Given the description of an element on the screen output the (x, y) to click on. 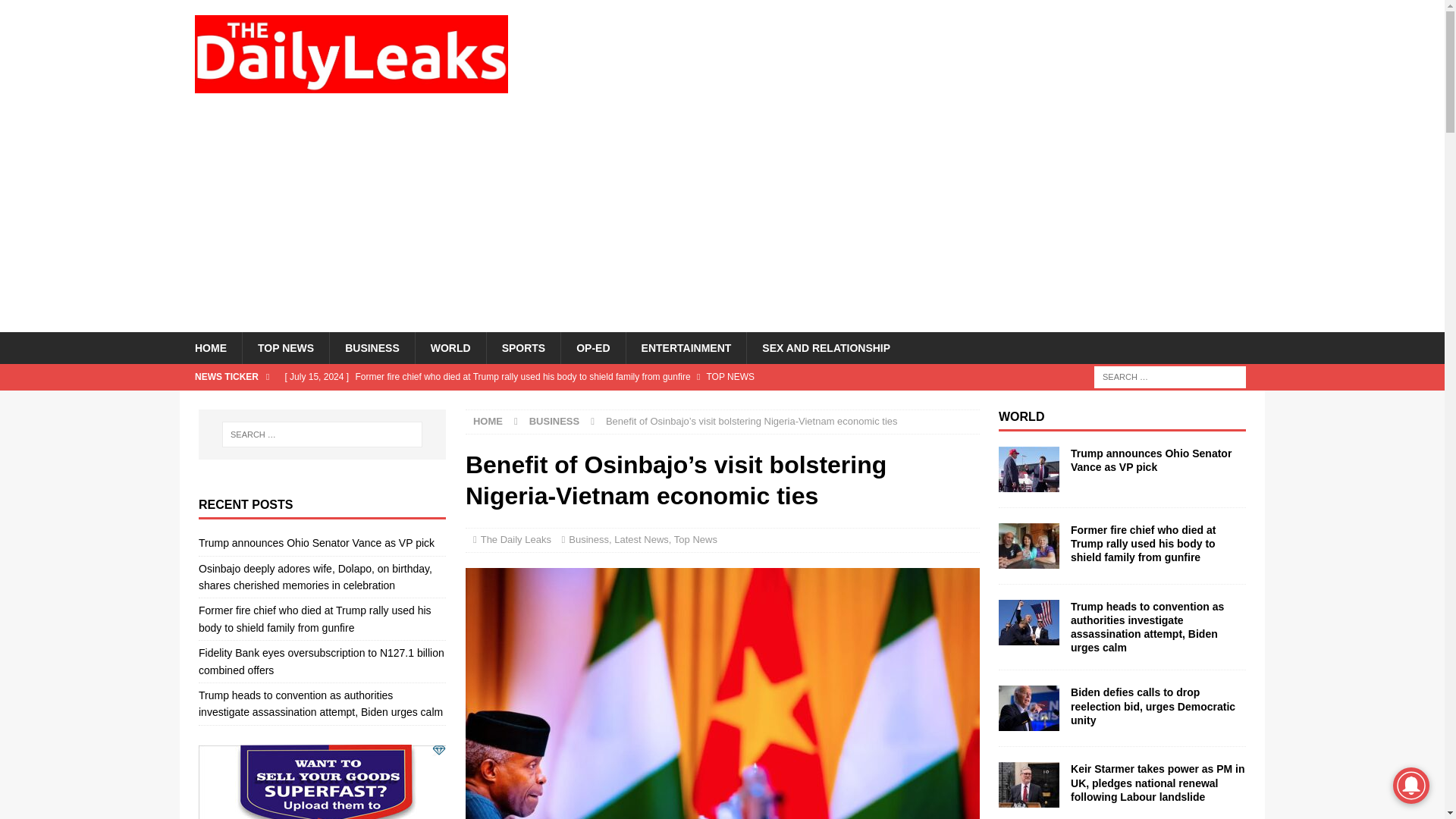
BUSINESS (371, 347)
TOP NEWS (285, 347)
SPORTS (523, 347)
ENTERTAINMENT (686, 347)
Latest News (641, 539)
Top News (695, 539)
SEX AND RELATIONSHIP (825, 347)
HOME (210, 347)
HOME (487, 420)
Osinbajo-in-Vietnam (722, 693)
WORLD (450, 347)
OP-ED (592, 347)
